Given the description of an element on the screen output the (x, y) to click on. 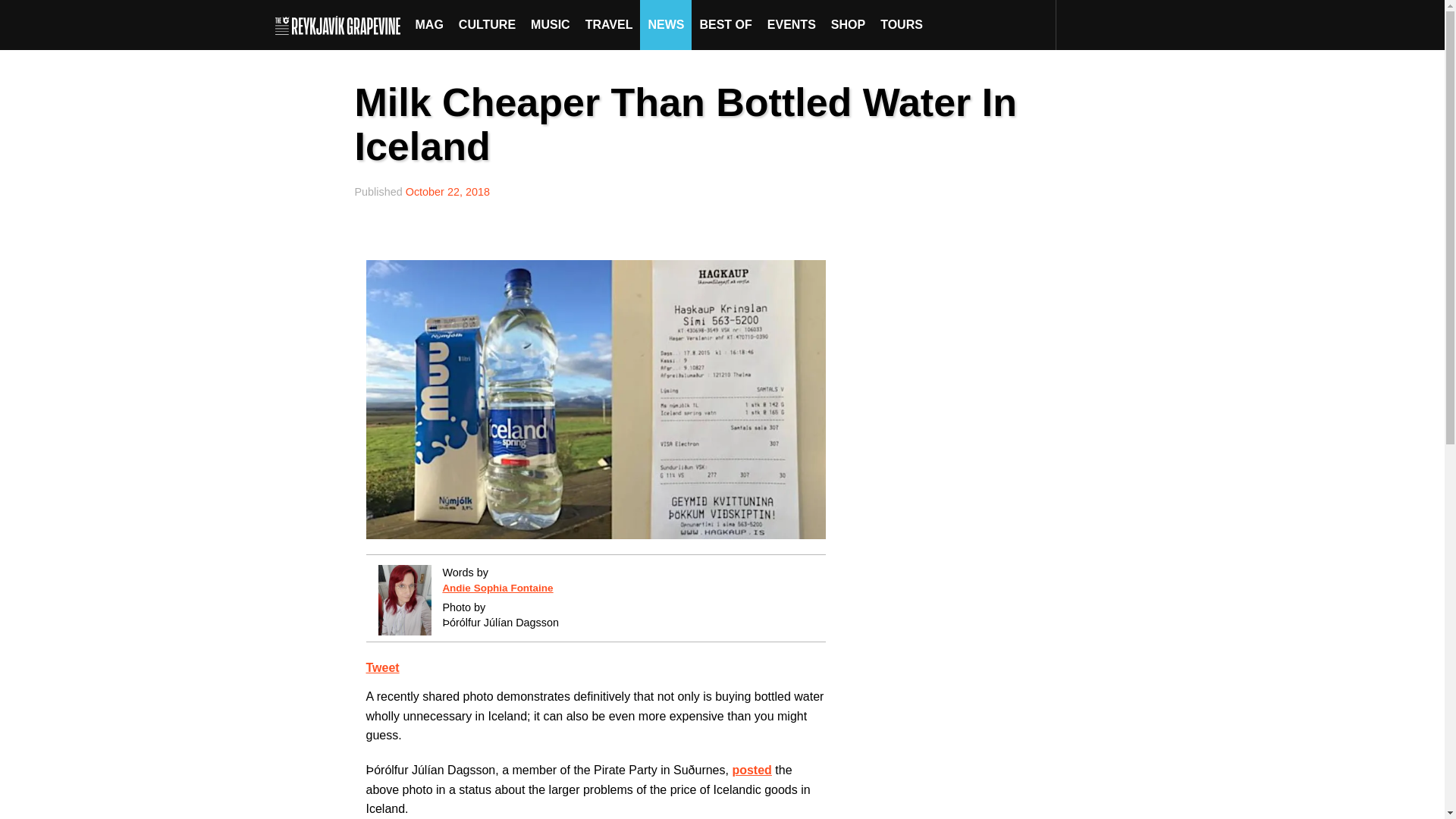
MUSIC (550, 24)
posted (751, 769)
SHOP (848, 24)
EVENTS (792, 24)
The Reykjavik Grapevine (341, 24)
Posts by Andie Sophia Fontaine (497, 587)
NEWS (665, 24)
CULTURE (486, 24)
BEST OF (724, 24)
Andie Sophia Fontaine (497, 587)
